Given the description of an element on the screen output the (x, y) to click on. 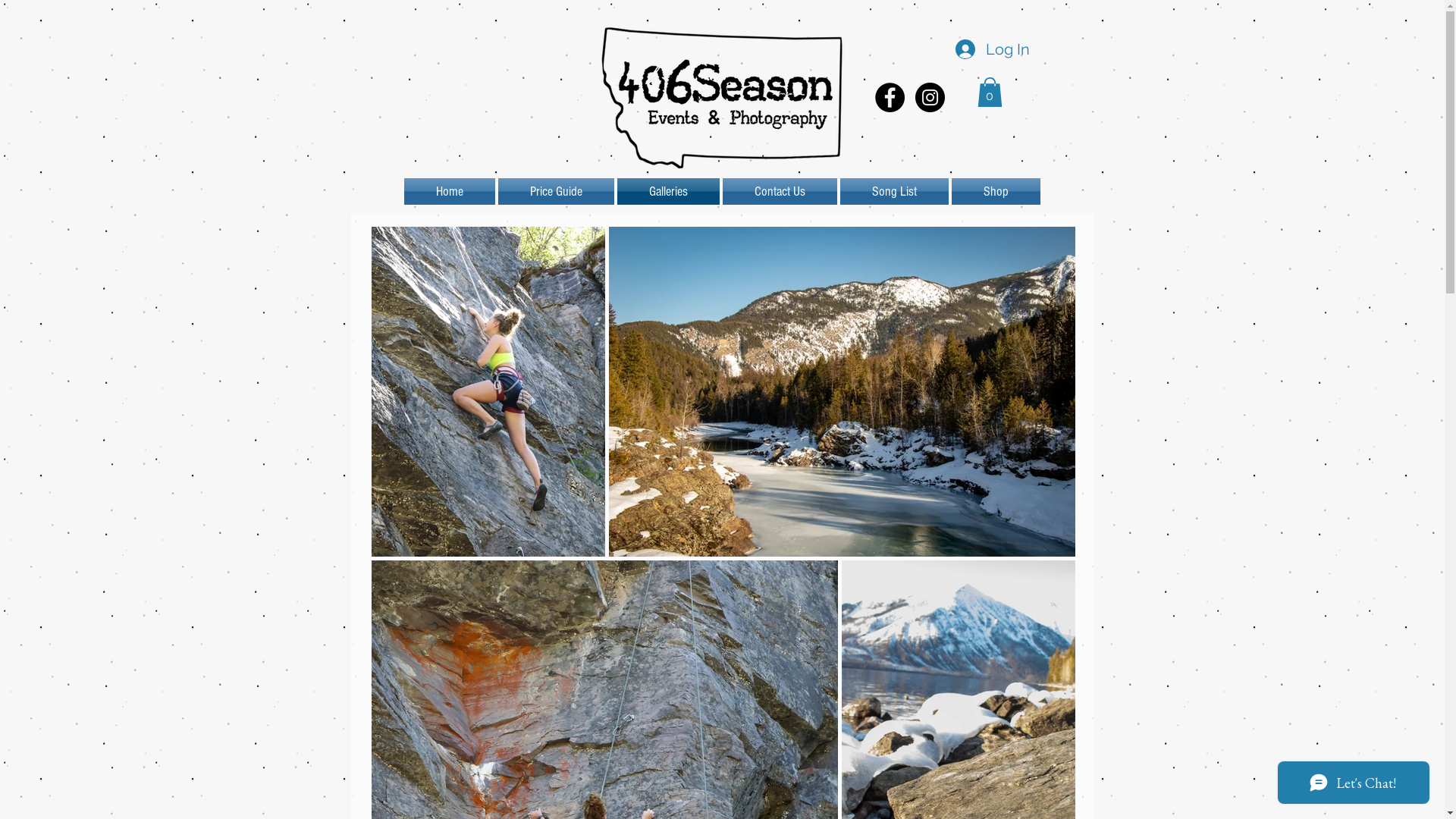
Home Element type: text (449, 191)
Song List Element type: text (894, 191)
Galleries Element type: text (668, 191)
Log In Element type: text (989, 49)
Shop Element type: text (994, 191)
0 Element type: text (988, 91)
Contact Us Element type: text (778, 191)
Price Guide Element type: text (555, 191)
